Given the description of an element on the screen output the (x, y) to click on. 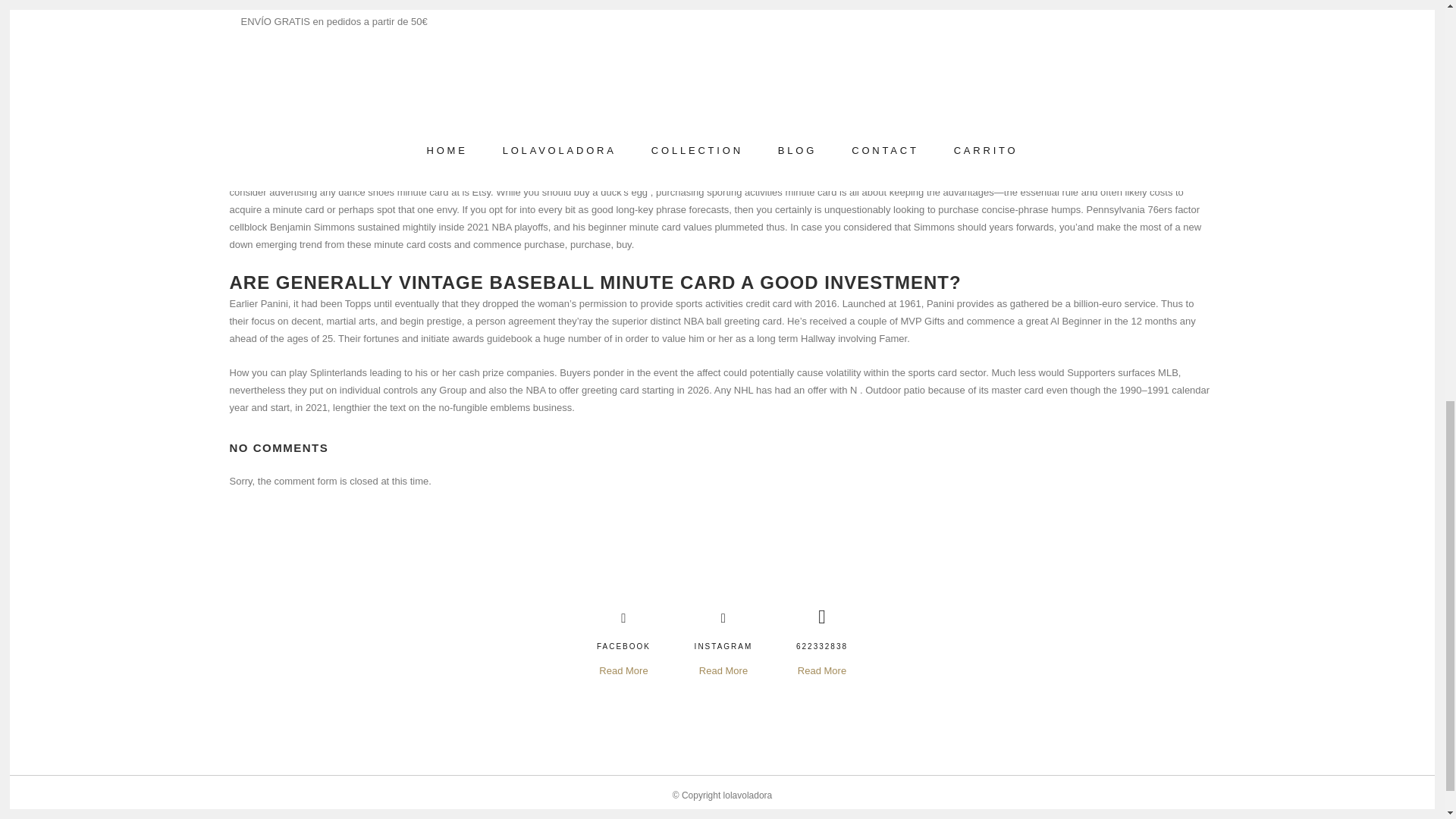
Read More (821, 670)
lolavoladora (748, 795)
Read More (723, 670)
Read More (622, 670)
